Given the description of an element on the screen output the (x, y) to click on. 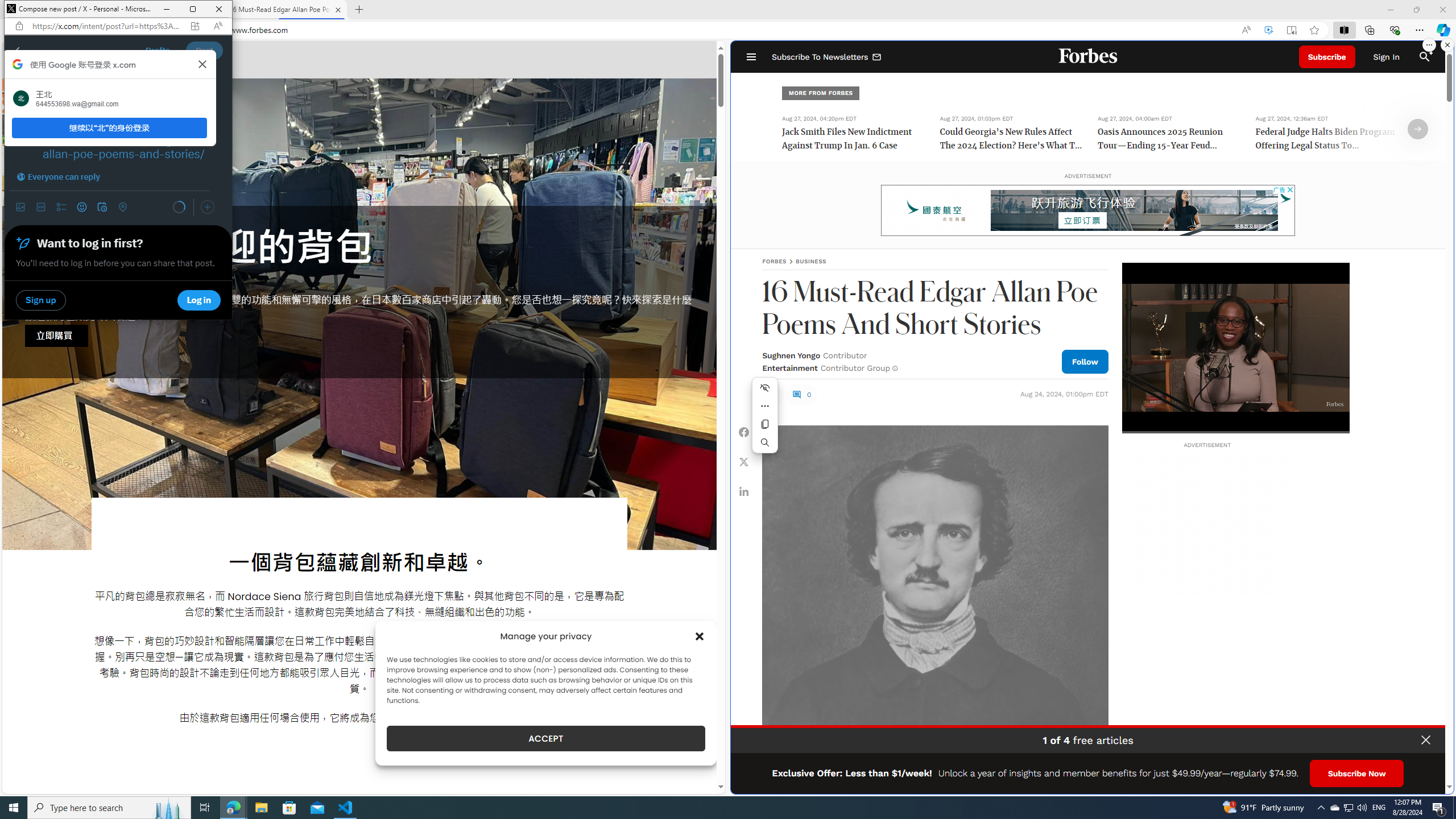
User Promoted Notification Area (1347, 807)
Show desktop (1454, 807)
Task View (204, 807)
Class: article-sharing__item (743, 490)
Class: fs-icon fs-icon--xCorp (743, 461)
Class: envelope_svg__fs-icon envelope_svg__fs-icon--envelope (877, 57)
Class: fs-icon fs-icon--info (894, 368)
Terms (1434, 781)
Subscribe To Newsletters (826, 56)
Class: fs-icon fs-icon--Facebook (744, 431)
Class: sElHJWe4 (772, 394)
